Given the description of an element on the screen output the (x, y) to click on. 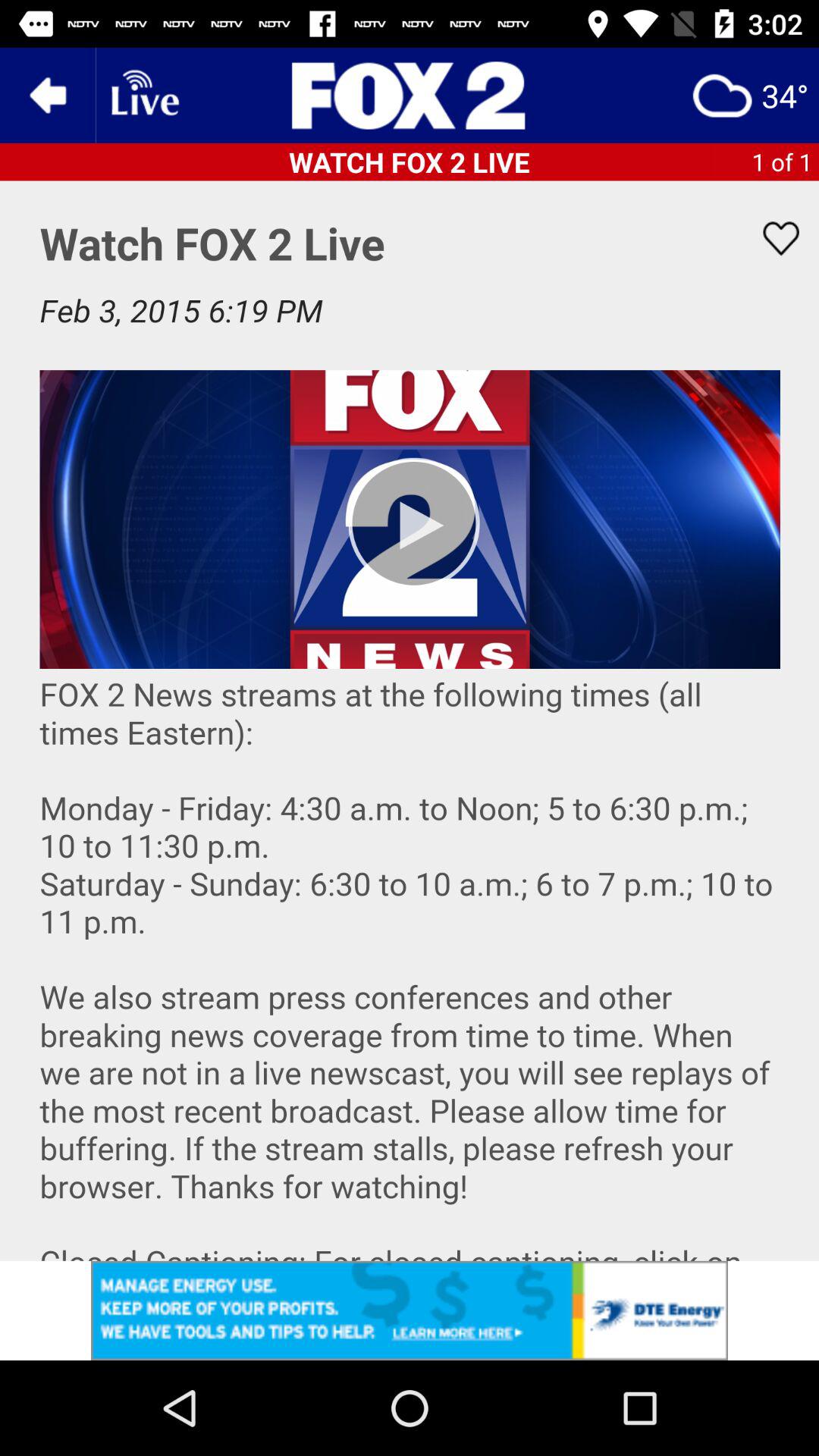
live button (143, 95)
